Given the description of an element on the screen output the (x, y) to click on. 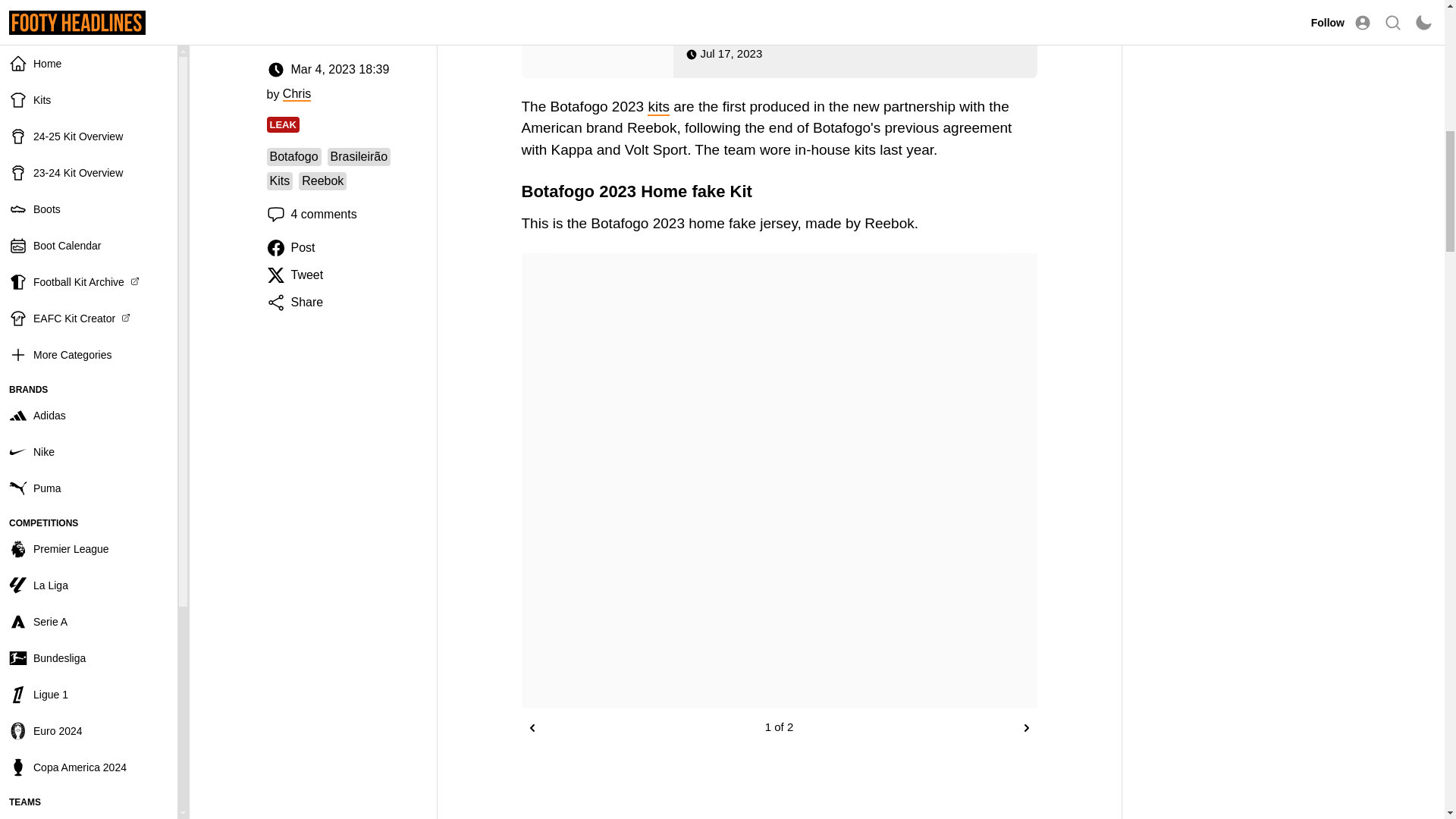
Arsenal (88, 13)
Chelsea (88, 81)
